Given the description of an element on the screen output the (x, y) to click on. 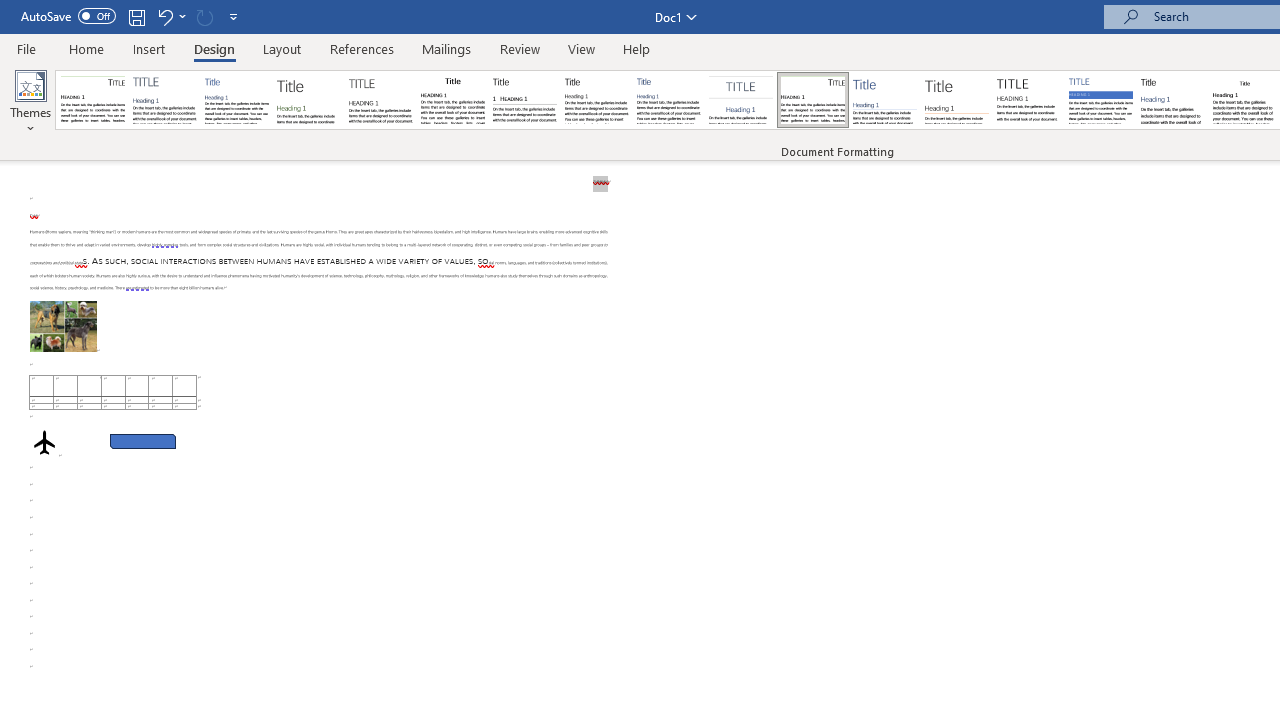
Document (93, 100)
Rectangle: Diagonal Corners Snipped 2 (143, 441)
Casual (669, 100)
Airplane with solid fill (43, 442)
Centered (740, 100)
Black & White (Classic) (452, 100)
Shaded (1100, 100)
